Given the description of an element on the screen output the (x, y) to click on. 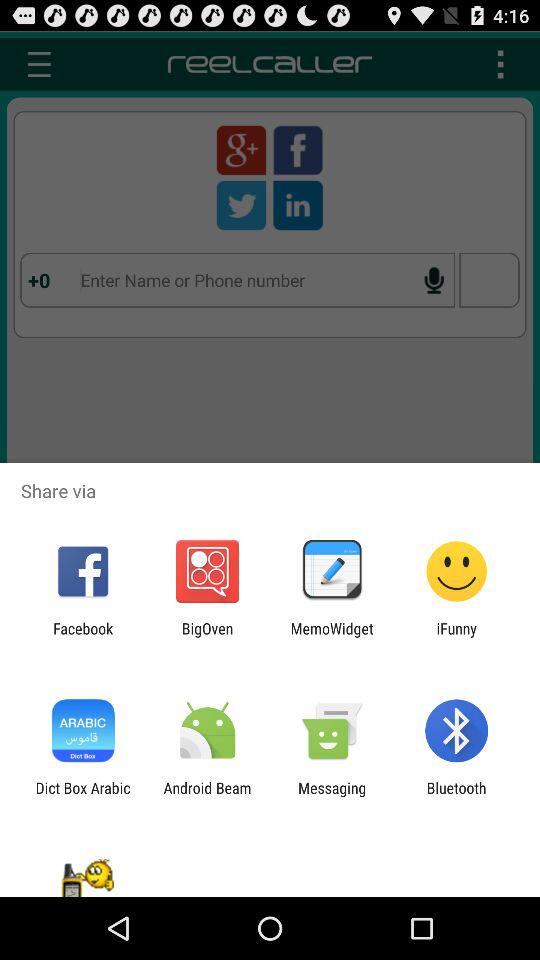
swipe to the facebook icon (83, 637)
